Given the description of an element on the screen output the (x, y) to click on. 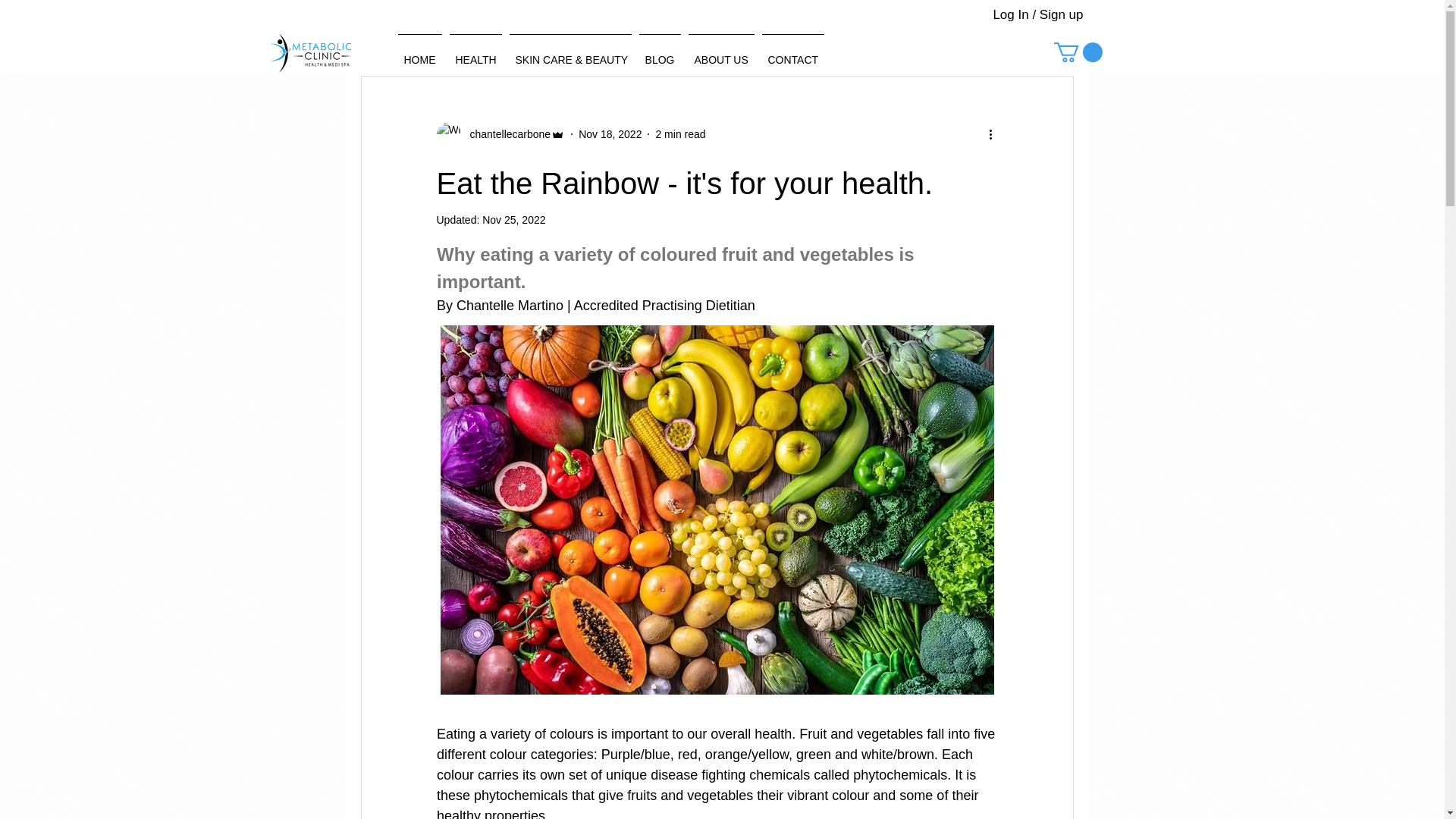
chantellecarbone (506, 134)
Nov 18, 2022 (610, 133)
HEALTH (475, 53)
chantellecarbone (501, 134)
Nov 25, 2022 (512, 219)
BLOG (659, 53)
HOME (419, 53)
METABOLIC CLINIC LOGO TEST BLUE COLOURS V2 PNG.png (309, 53)
2 min read (679, 133)
ABOUT US (720, 53)
